Given the description of an element on the screen output the (x, y) to click on. 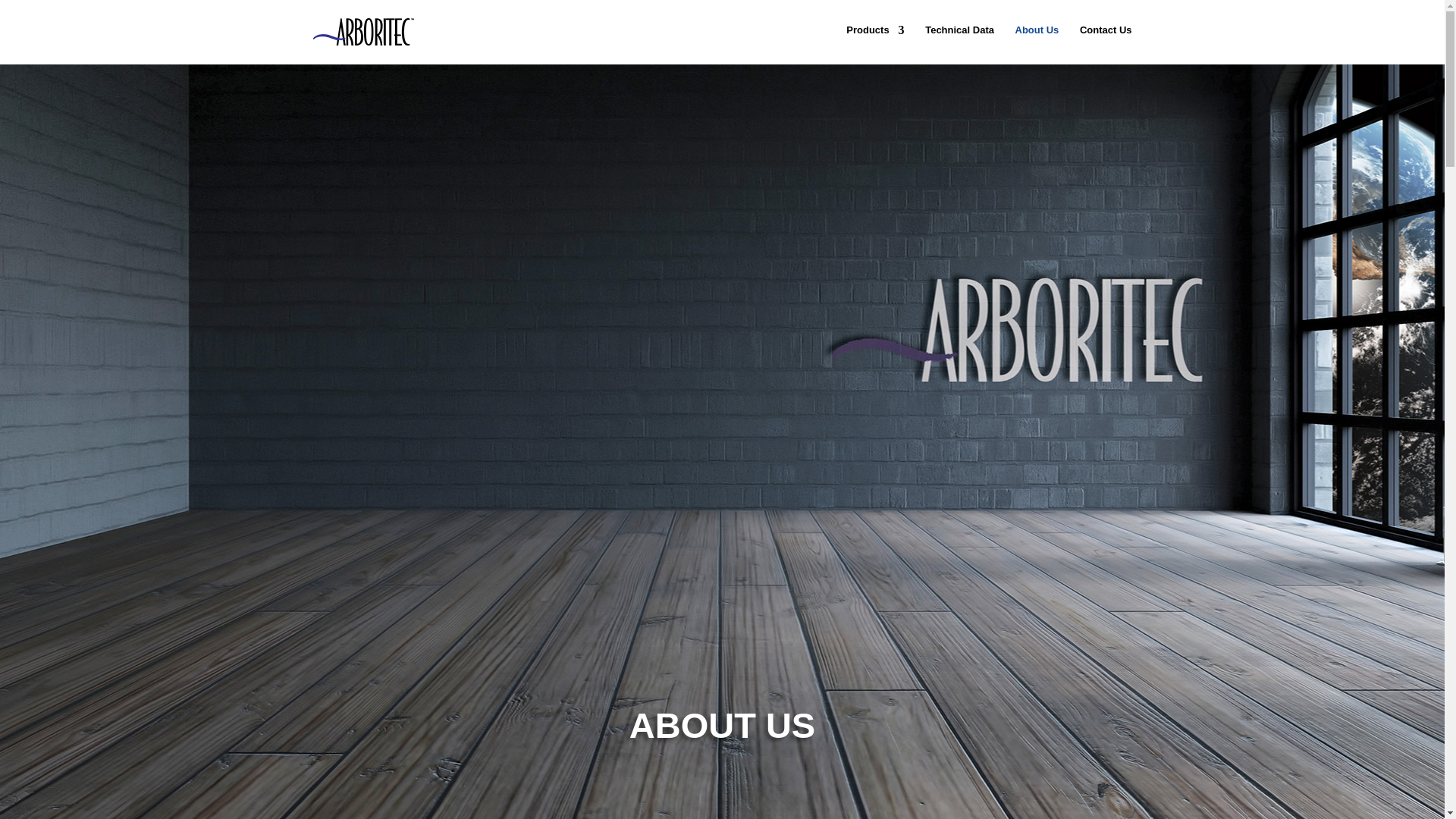
Products (874, 42)
About Us (1036, 42)
Contact Us (1106, 42)
Technical Data (959, 42)
